Given the description of an element on the screen output the (x, y) to click on. 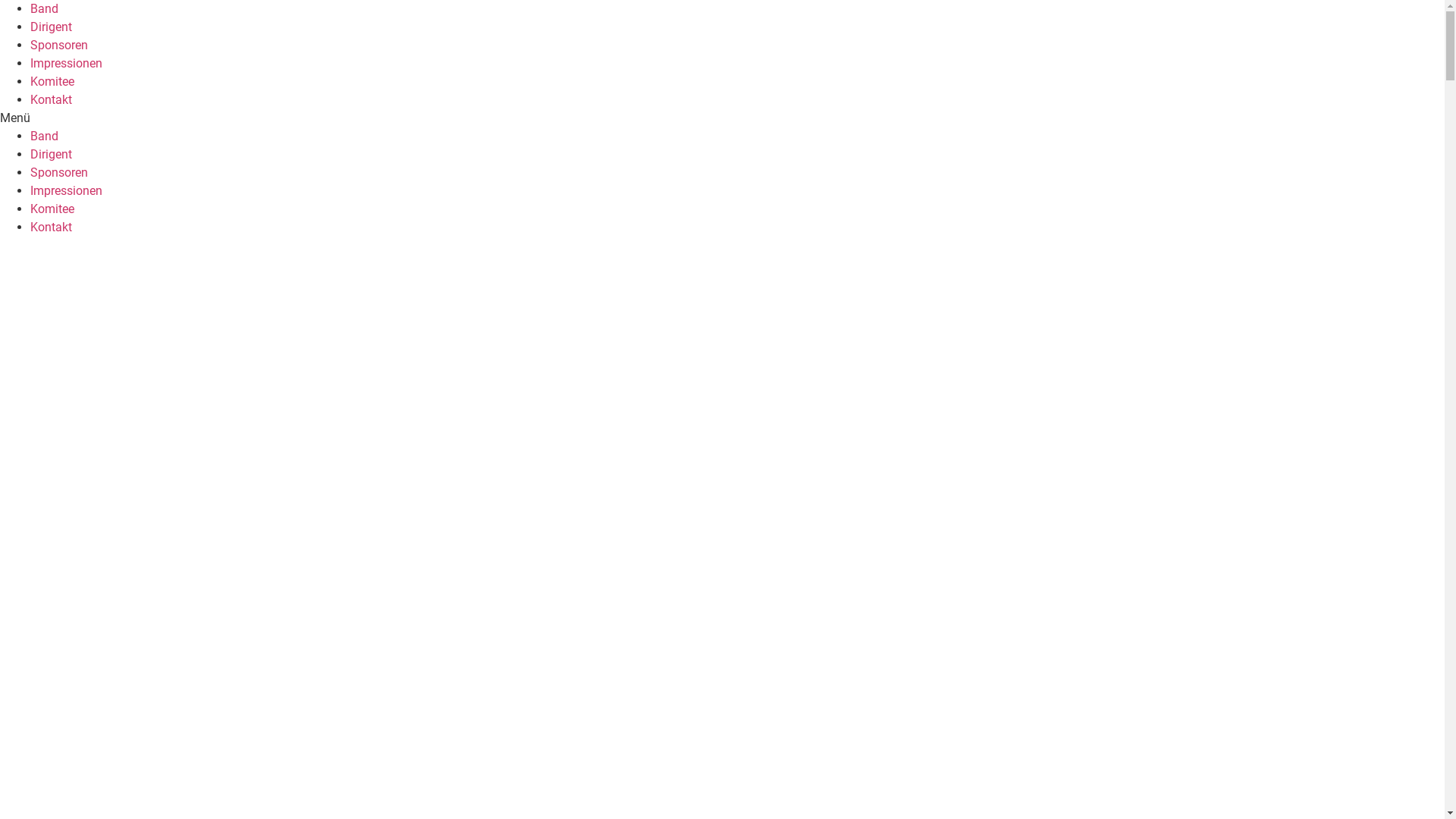
Kontakt Element type: text (51, 226)
Komitee Element type: text (52, 208)
Impressionen Element type: text (66, 190)
Band Element type: text (44, 135)
Impressionen Element type: text (66, 63)
Band Element type: text (44, 8)
Sponsoren Element type: text (58, 172)
Dirigent Element type: text (51, 26)
Dirigent Element type: text (51, 154)
Zum Inhalt wechseln Element type: text (0, 0)
Sponsoren Element type: text (58, 44)
Komitee Element type: text (52, 81)
Kontakt Element type: text (51, 99)
